Given the description of an element on the screen output the (x, y) to click on. 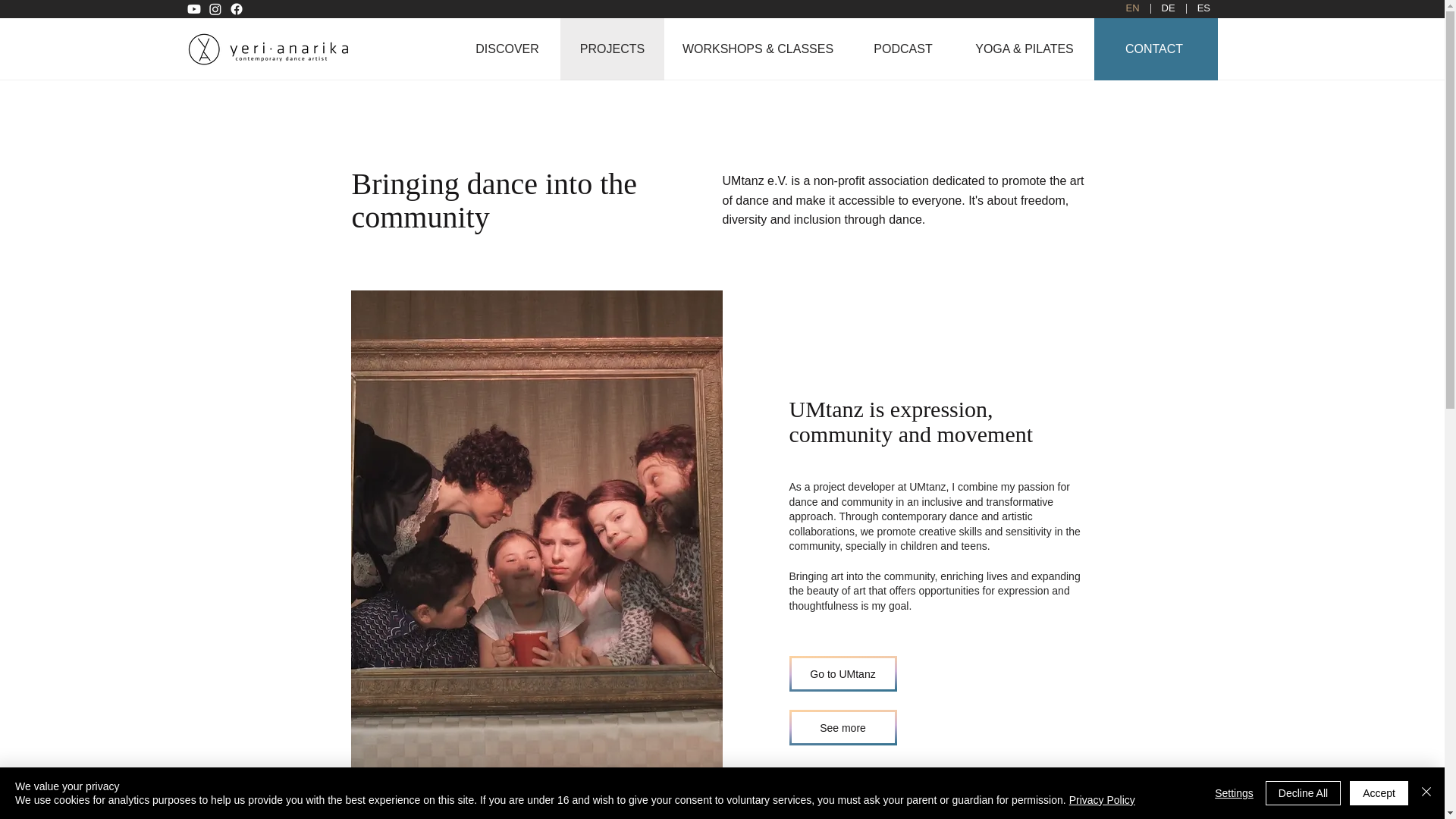
Go to UMtanz (842, 673)
DISCOVER (507, 49)
EN (1132, 8)
PROJECTS (611, 49)
PODCAST (901, 49)
Privacy Policy (1101, 799)
DE (1168, 8)
See more (842, 727)
Accept (1378, 793)
CONTACT (1155, 49)
